Given the description of an element on the screen output the (x, y) to click on. 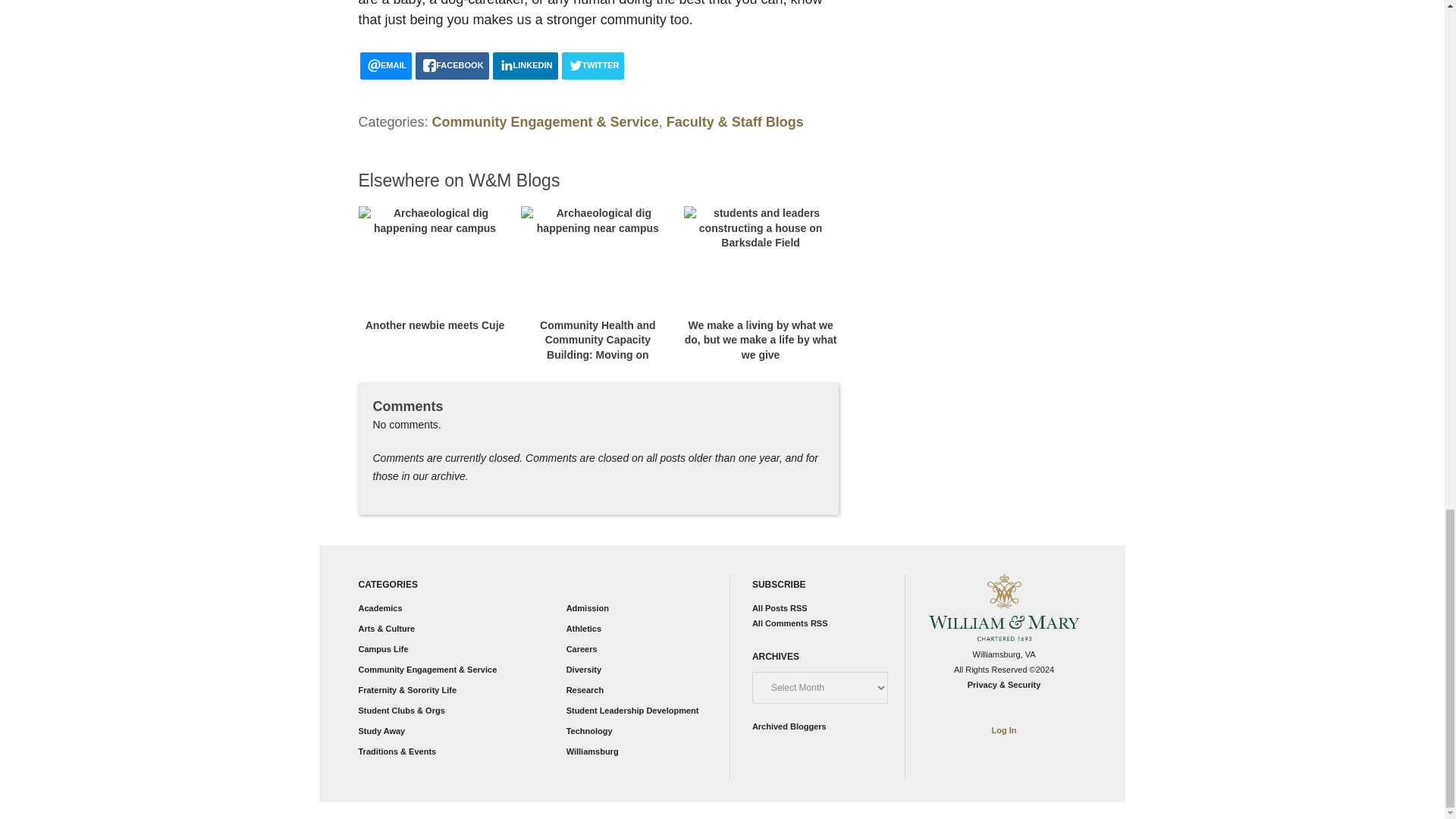
TWITTER (593, 65)
FACEBOOK (450, 65)
Diversity (583, 669)
Campus Life (382, 648)
LINKEDIN (525, 65)
EMAIL (385, 65)
Study Away (381, 730)
Careers (581, 648)
Technology (589, 730)
Academics (379, 607)
Student Leadership Development (632, 709)
Admission (587, 607)
Williamsburg (592, 750)
Research (585, 689)
Athletics (583, 628)
